Given the description of an element on the screen output the (x, y) to click on. 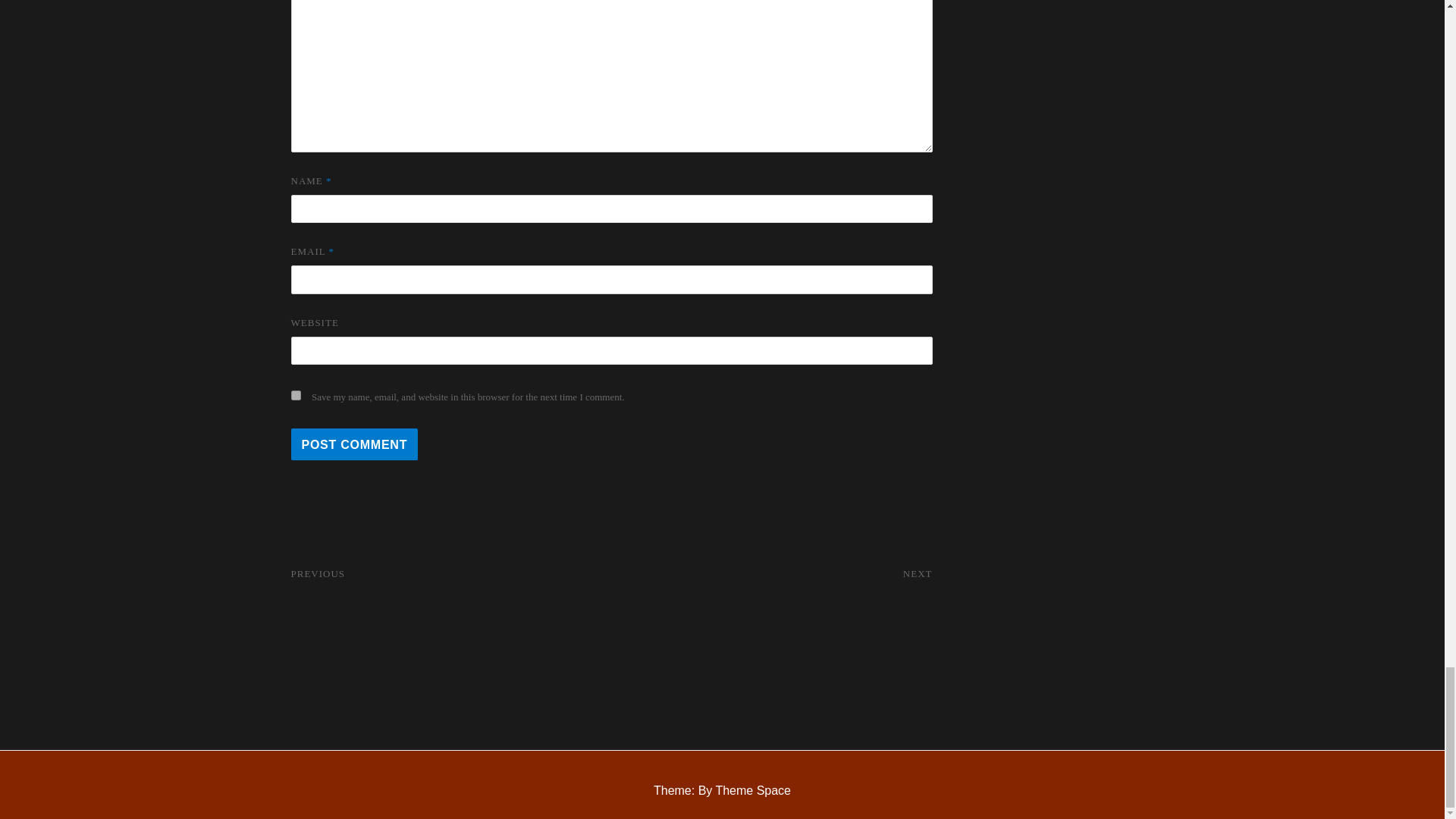
Post Comment (355, 444)
yes (296, 395)
Post Comment (355, 444)
